Given the description of an element on the screen output the (x, y) to click on. 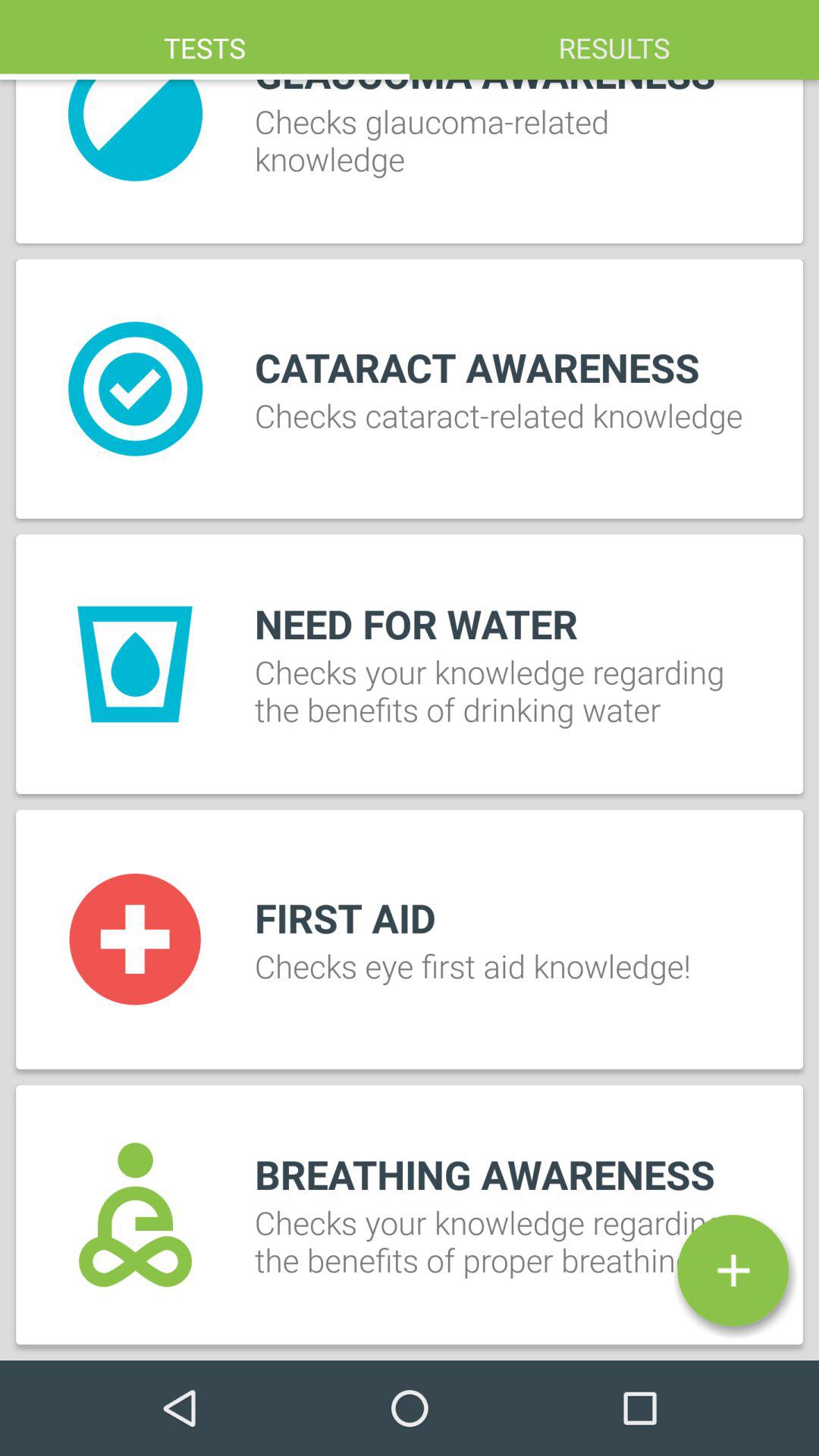
add test (733, 1270)
